Given the description of an element on the screen output the (x, y) to click on. 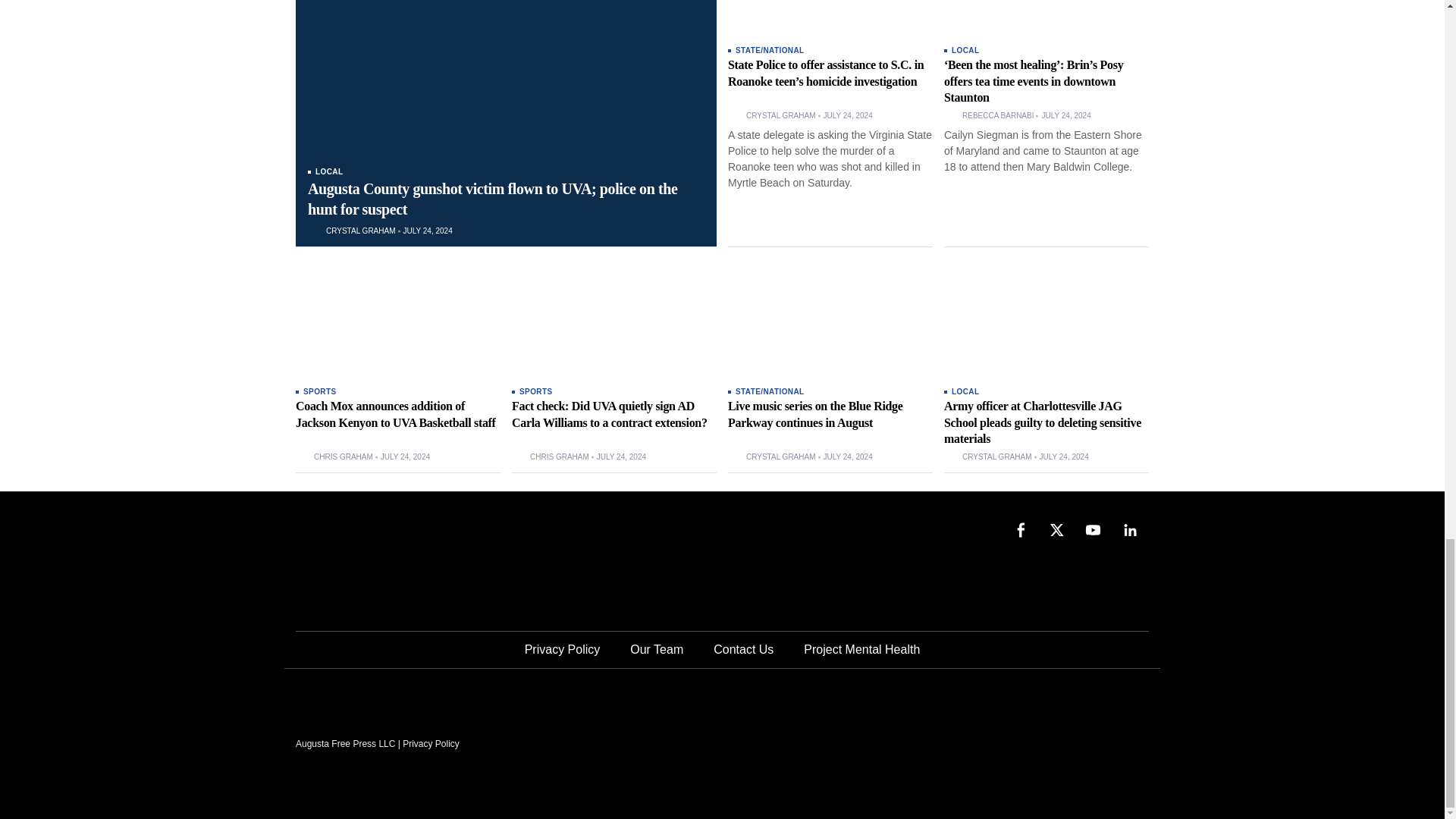
DMCA.com Protection Status (1034, 742)
